Given the description of an element on the screen output the (x, y) to click on. 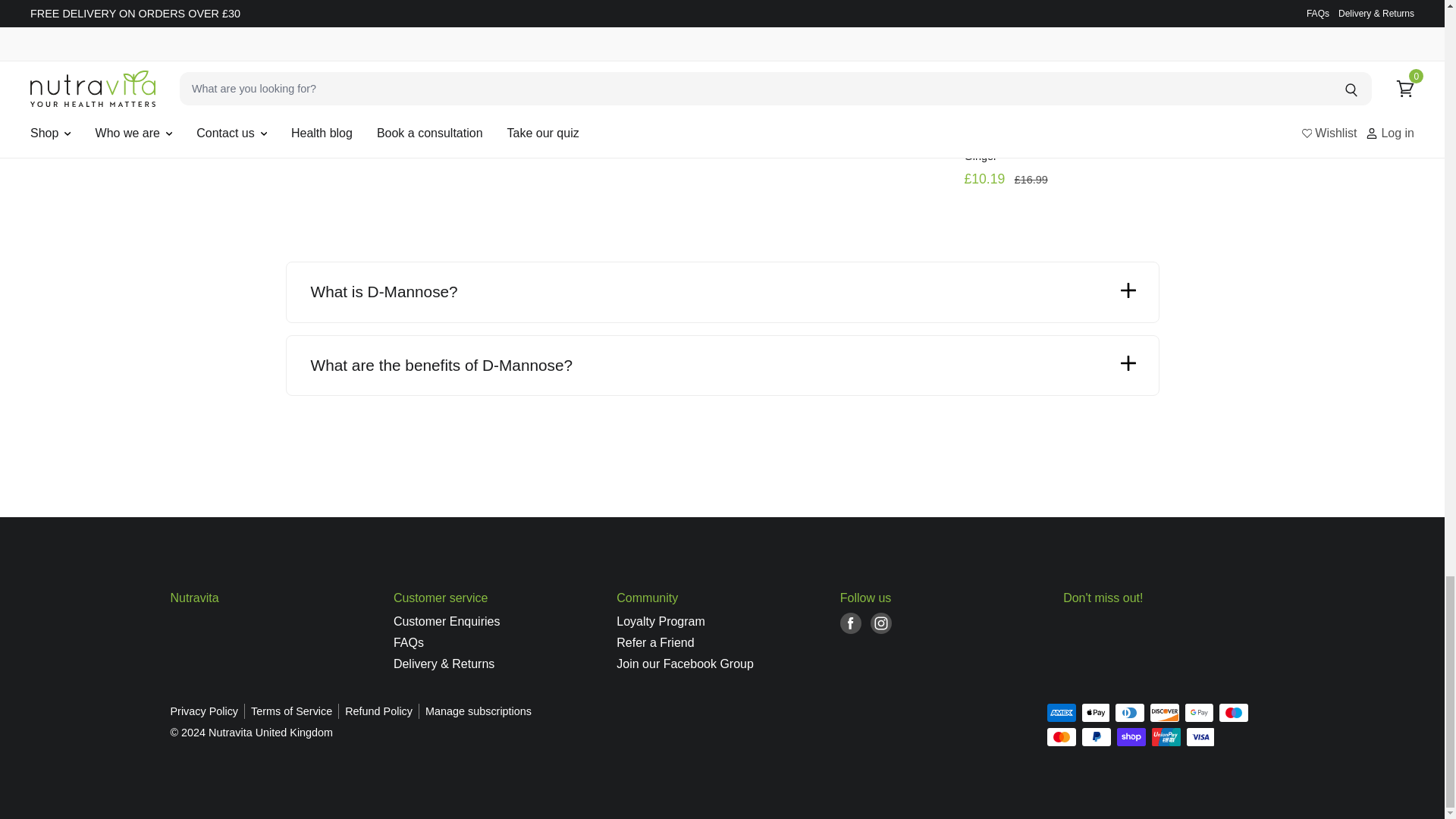
Black Maca Root Complex 5000mg - 180 Vegan Capsules (388, 72)
